Given the description of an element on the screen output the (x, y) to click on. 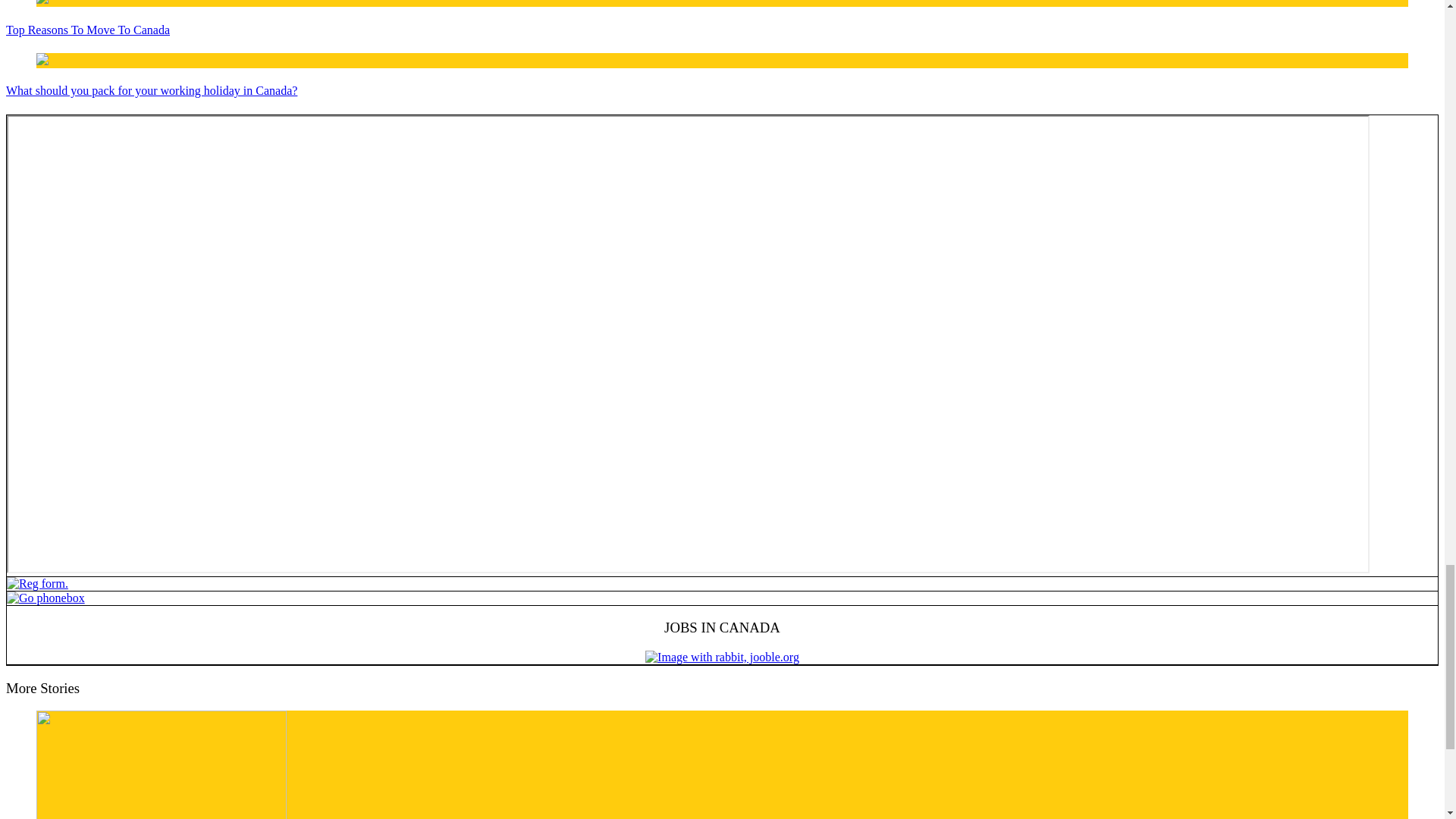
Go phonebox (45, 597)
registratoin form (37, 583)
